Given the description of an element on the screen output the (x, y) to click on. 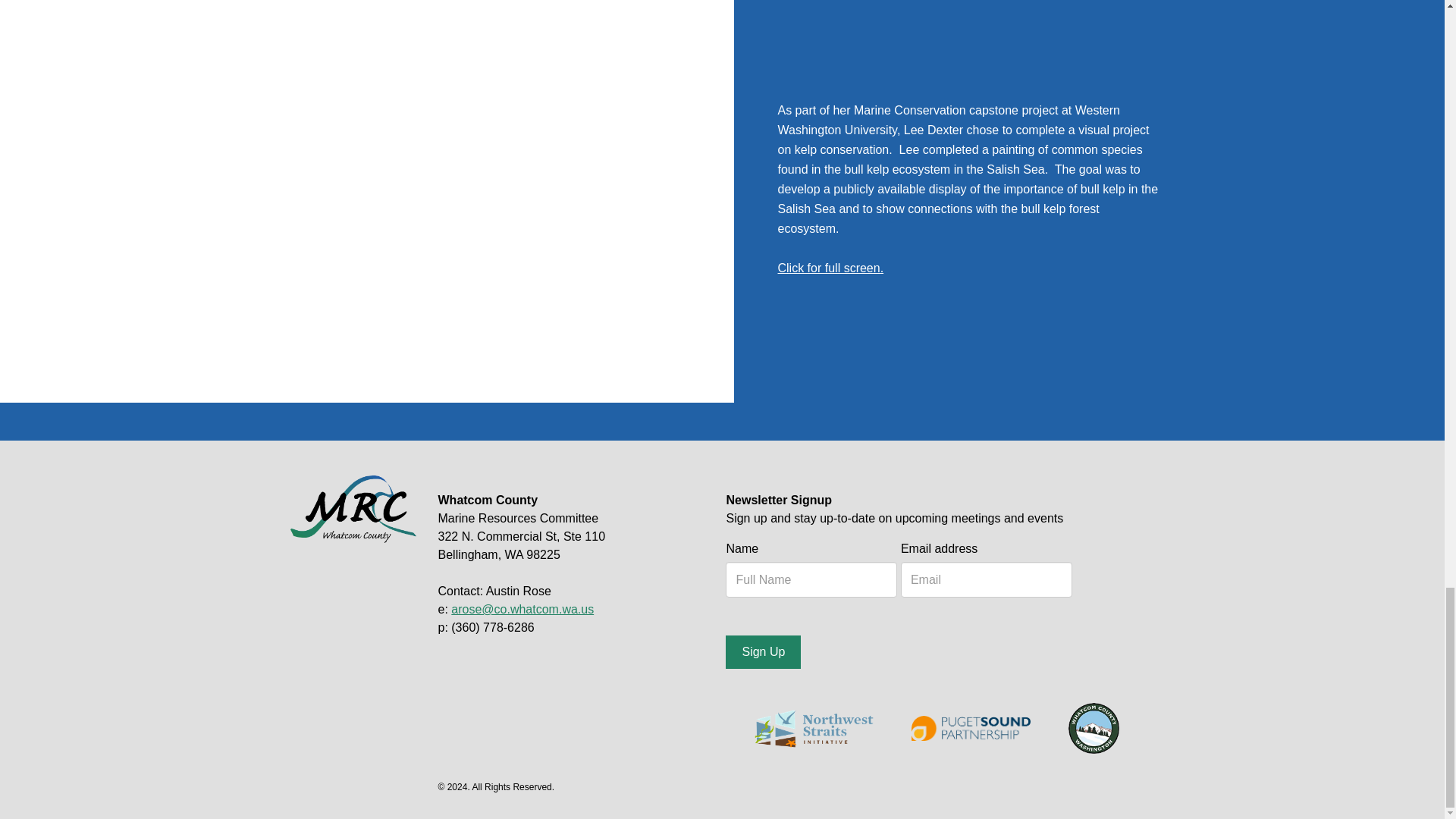
Sign Up (762, 652)
The Importance of Bull Kelp in the Salish Sea.png (830, 267)
Click for full screen. (830, 267)
